Given the description of an element on the screen output the (x, y) to click on. 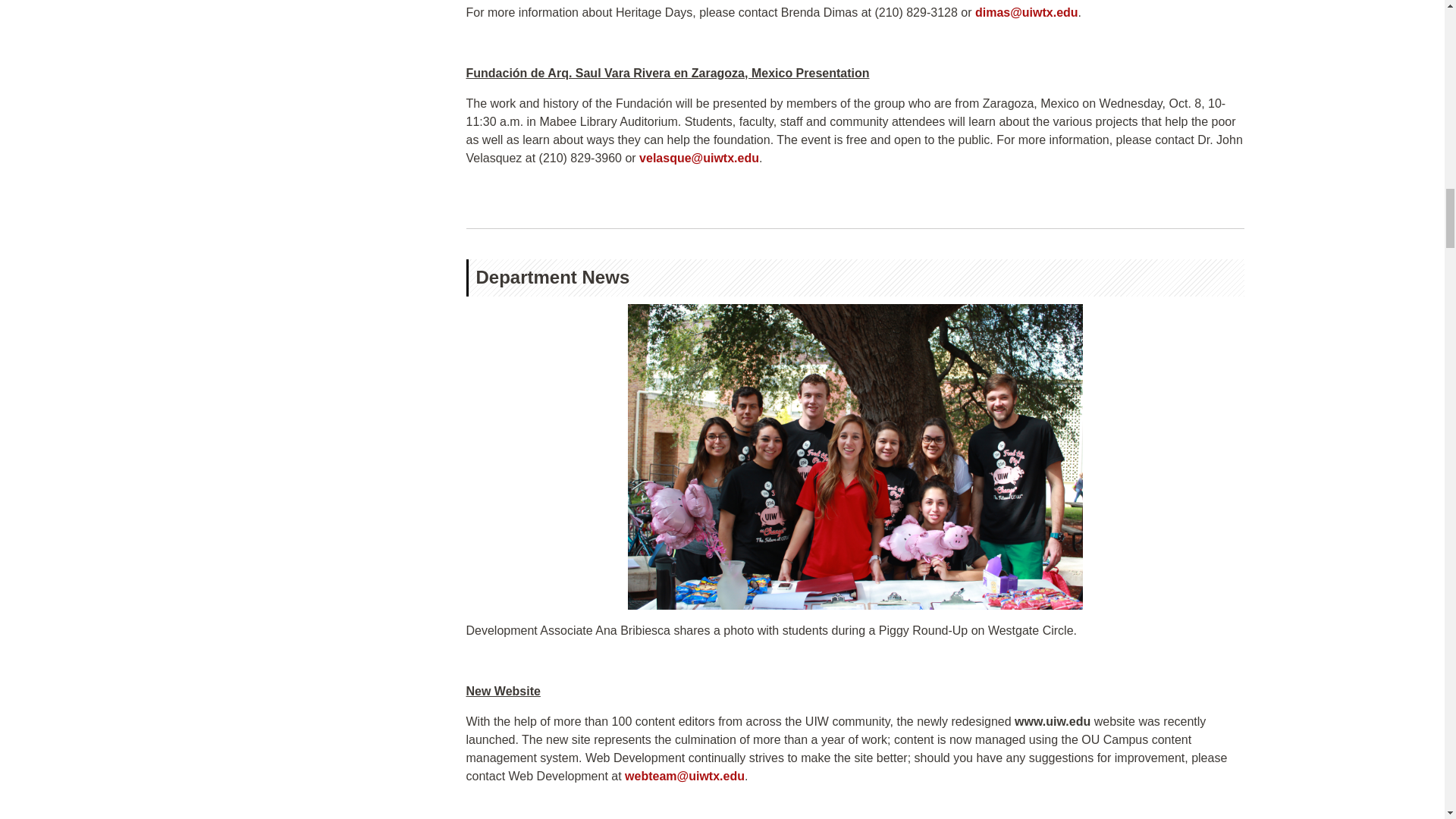
www.uiw.edu (1052, 721)
